Given the description of an element on the screen output the (x, y) to click on. 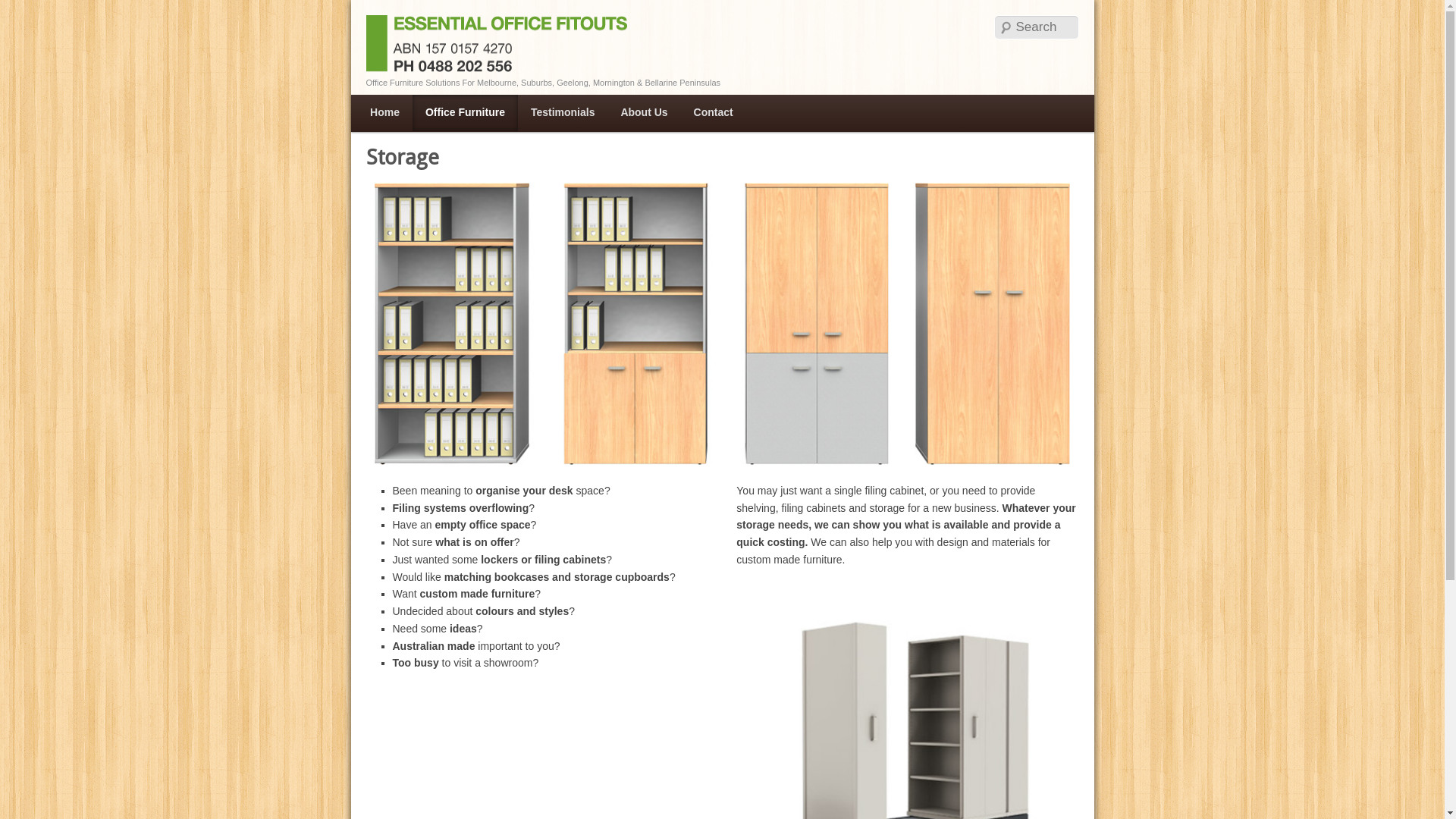
About Us Element type: text (643, 112)
Search Element type: text (22, 8)
Contact Element type: text (713, 112)
Tall Cupboards Element type: hover (722, 323)
Home Element type: text (384, 112)
Testimonials Element type: text (562, 112)
Skip to secondary content Element type: text (444, 112)
Office Furniture Element type: text (464, 112)
Skip to primary content Element type: text (437, 112)
